Given the description of an element on the screen output the (x, y) to click on. 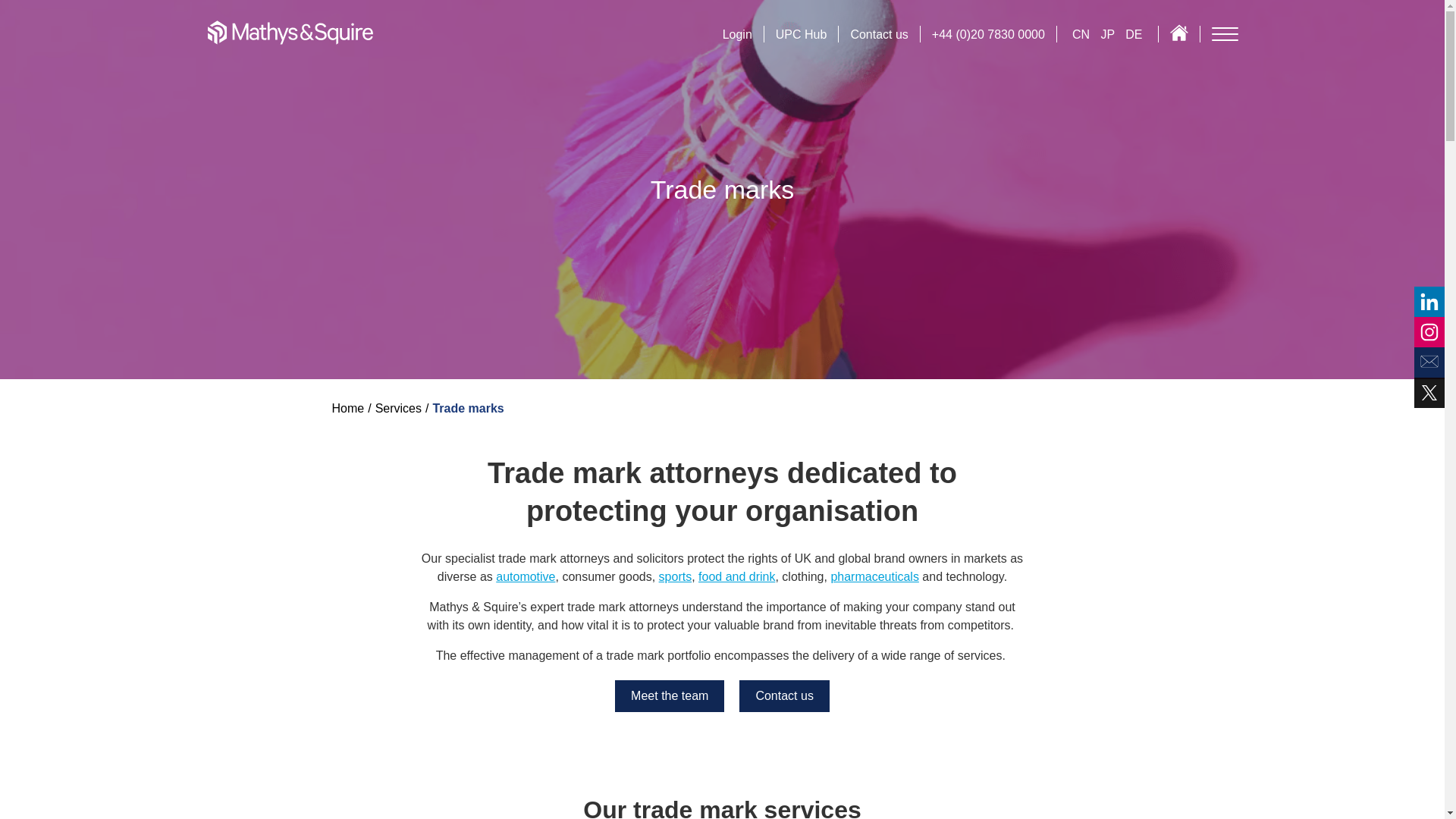
Login (737, 33)
homepage (289, 32)
UPC Hub (801, 33)
JP (1109, 33)
Home (348, 408)
Contact us (878, 33)
CN (1082, 33)
Services (398, 408)
Trade marks (467, 408)
DE (1133, 33)
